Given the description of an element on the screen output the (x, y) to click on. 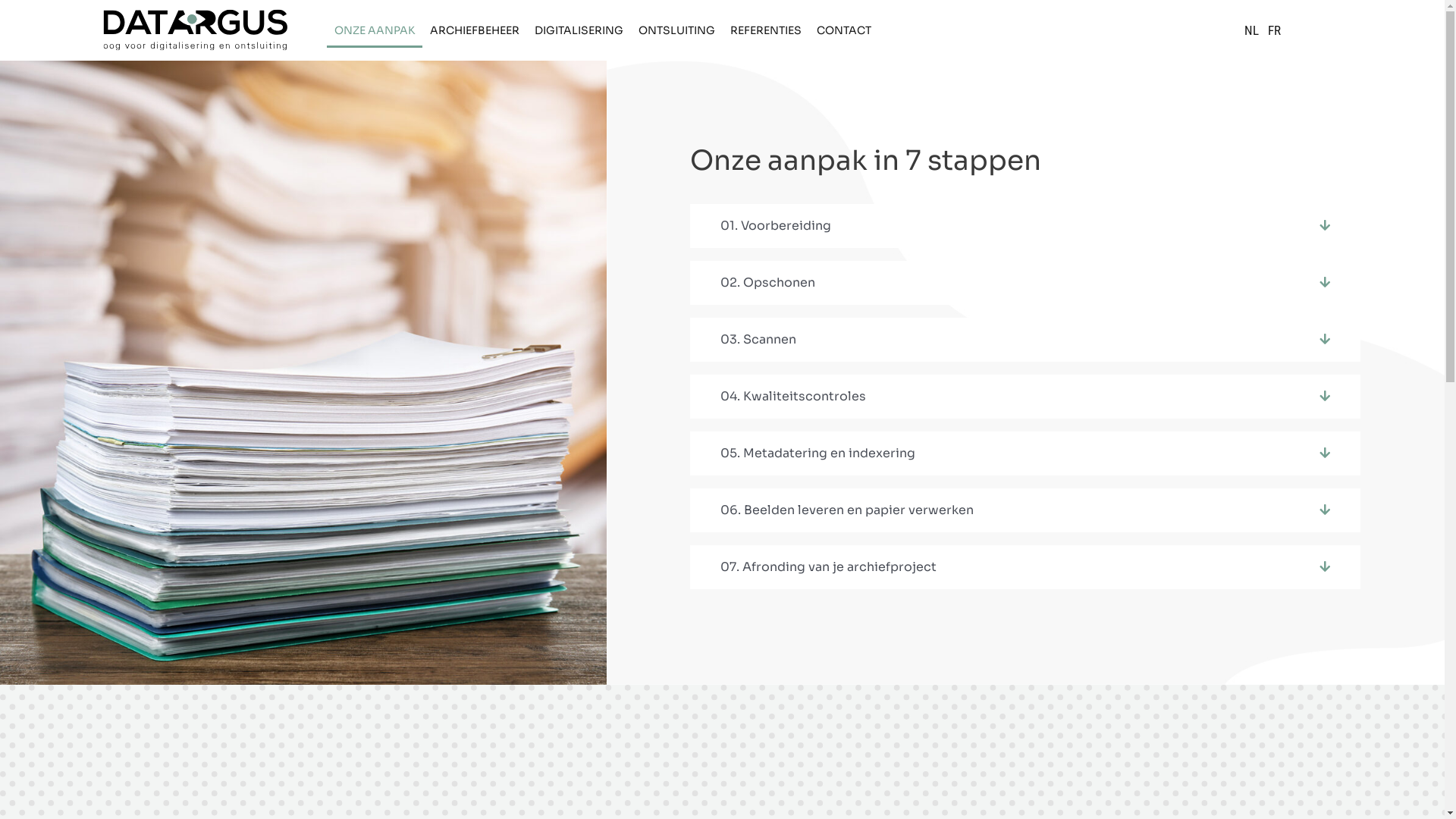
04. Kwaliteitscontroles Element type: text (793, 396)
02. Opschonen Element type: text (767, 282)
ARCHIEFBEHEER Element type: text (474, 29)
01. Voorbereiding Element type: text (775, 225)
NL Element type: text (1251, 29)
REFERENTIES Element type: text (765, 29)
06. Beelden leveren en papier verwerken Element type: text (846, 509)
ONTSLUITING Element type: text (676, 29)
CONTACT Element type: text (843, 29)
03. Scannen Element type: text (758, 339)
05. Metadatering en indexering Element type: text (817, 453)
DIGITALISERING Element type: text (578, 29)
FR Element type: text (1274, 29)
ONZE AANPAK Element type: text (374, 29)
07. Afronding van je archiefproject Element type: text (828, 566)
